Given the description of an element on the screen output the (x, y) to click on. 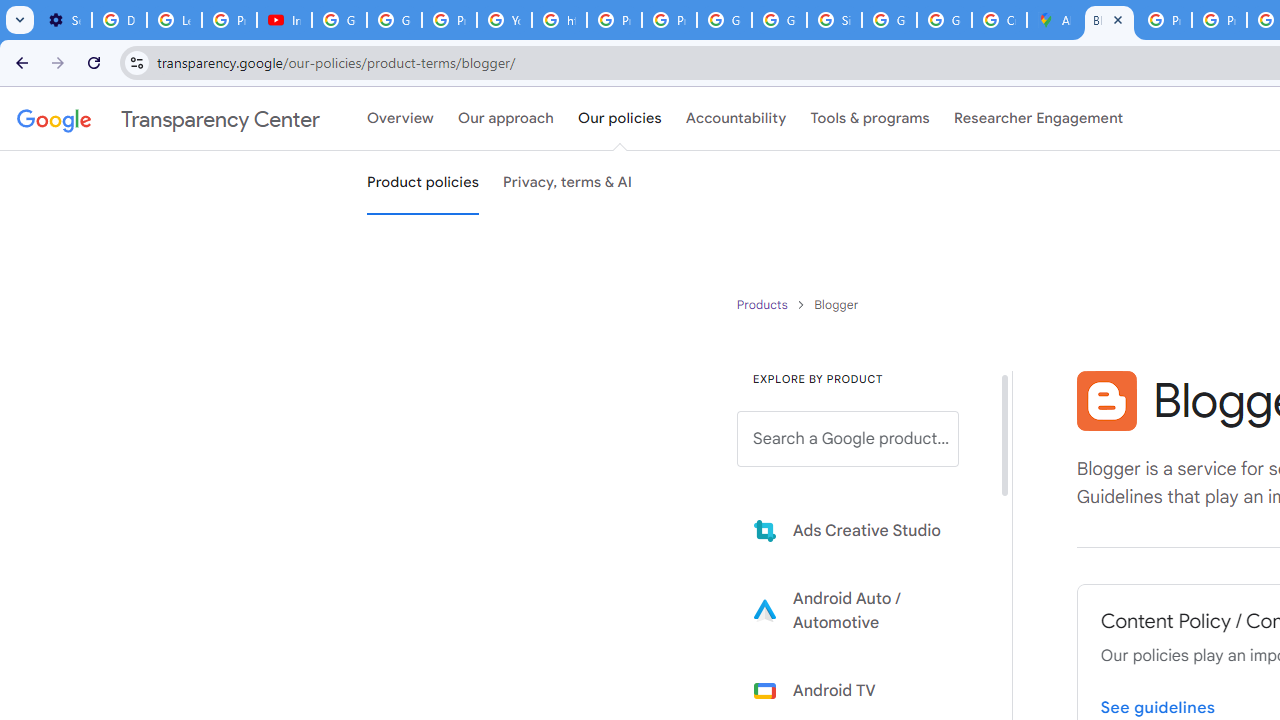
Privacy Help Center - Policies Help (1163, 20)
Accountability (735, 119)
Tools & programs (869, 119)
Blogger Policies and Guidelines - Transparency Center (1108, 20)
Learn more about Android Auto (862, 610)
Learn more about Ads Creative Studio (862, 530)
Transparency Center (167, 119)
Learn how to find your photos - Google Photos Help (174, 20)
Google Account Help (339, 20)
